Given the description of an element on the screen output the (x, y) to click on. 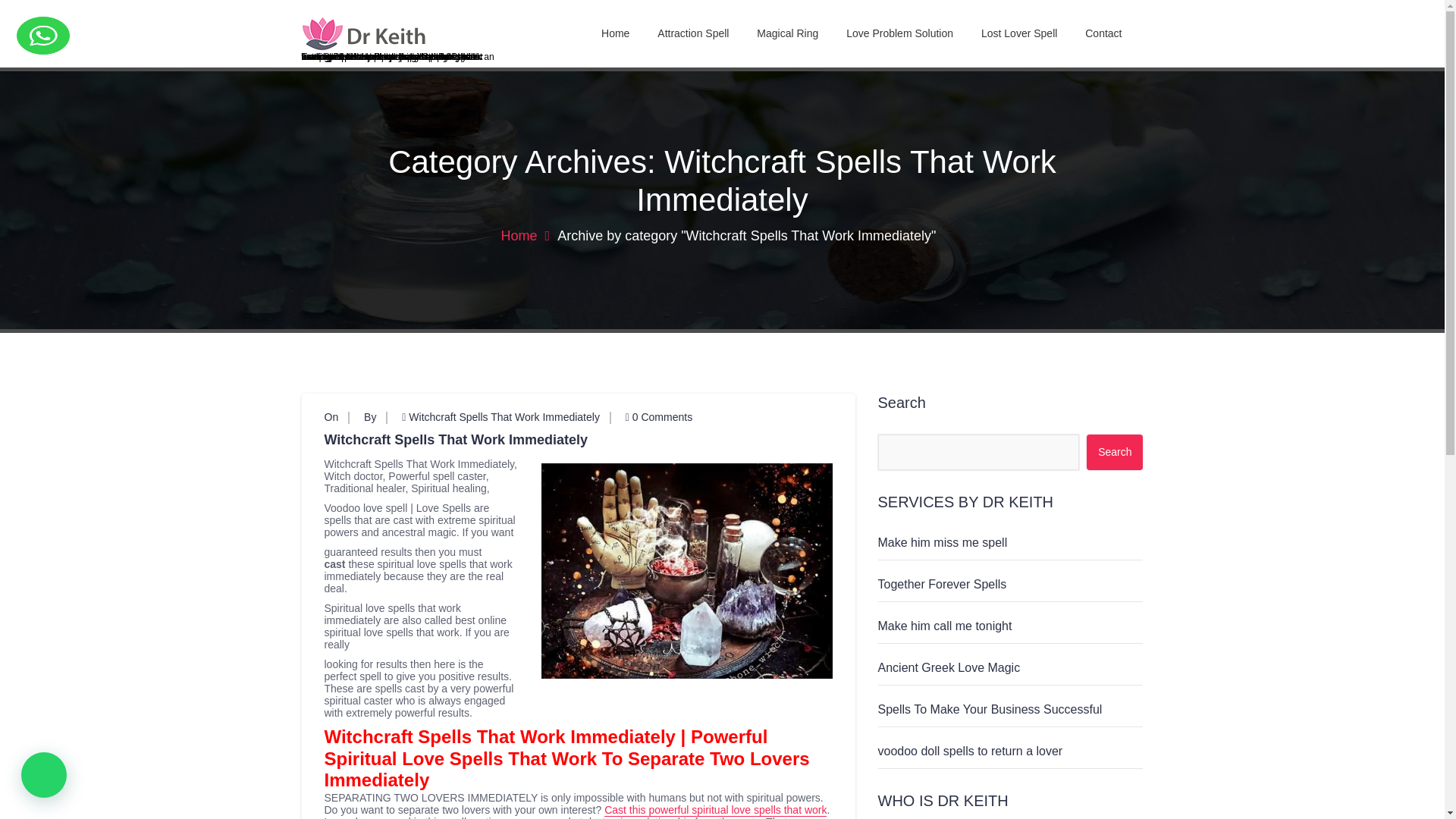
Search (1114, 452)
Search (1114, 452)
Contact (1103, 33)
Attraction Spell (692, 33)
Lost Lover Spell (1019, 33)
Cast this powerful spiritual love spells that work (715, 809)
Love Problem Solution (899, 33)
Ancient Greek Love Magic (948, 667)
Search (1114, 452)
Home (615, 33)
